Given the description of an element on the screen output the (x, y) to click on. 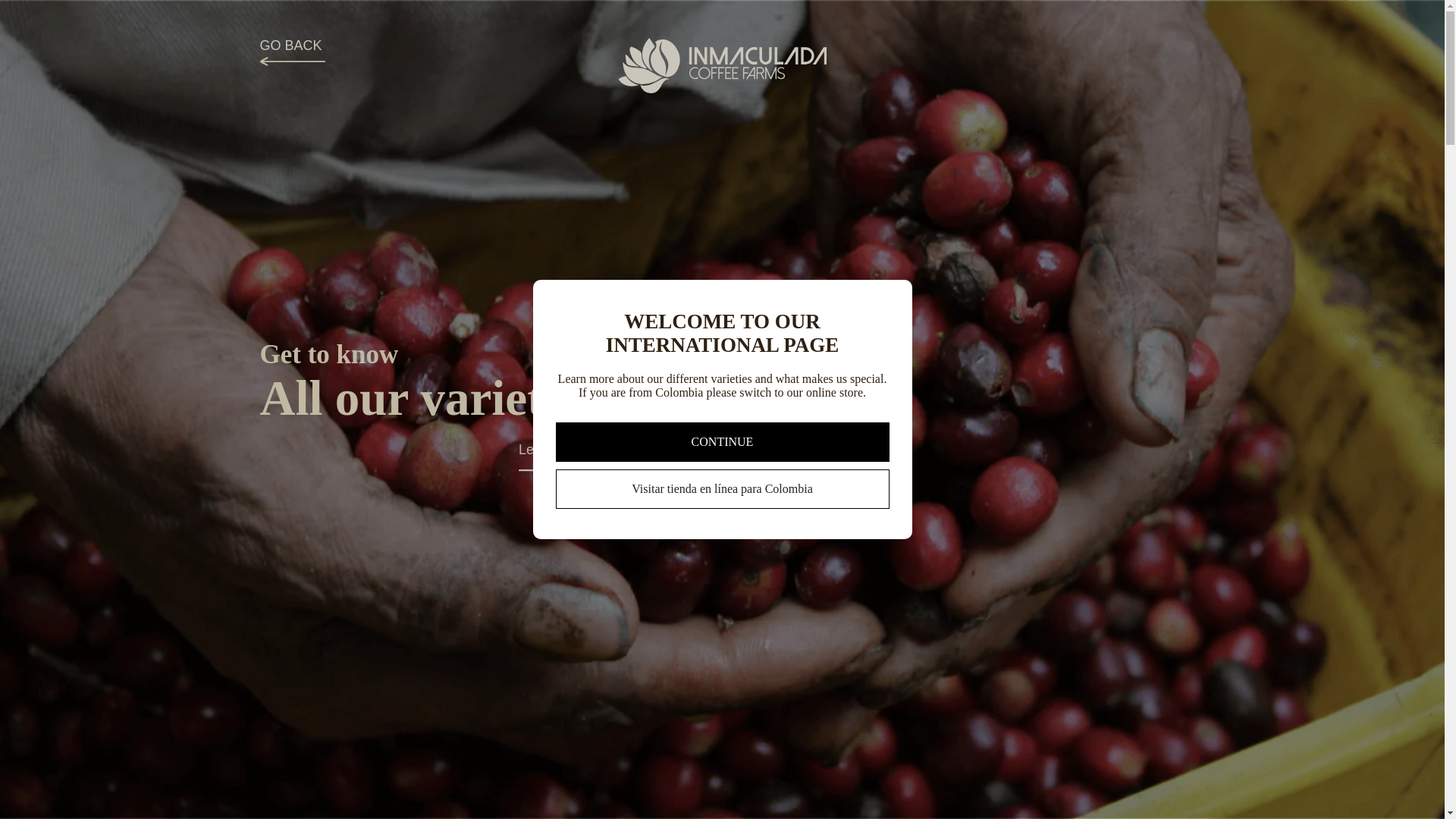
CONTINUE (721, 441)
GO BACK (291, 53)
Learn more (558, 460)
